Given the description of an element on the screen output the (x, y) to click on. 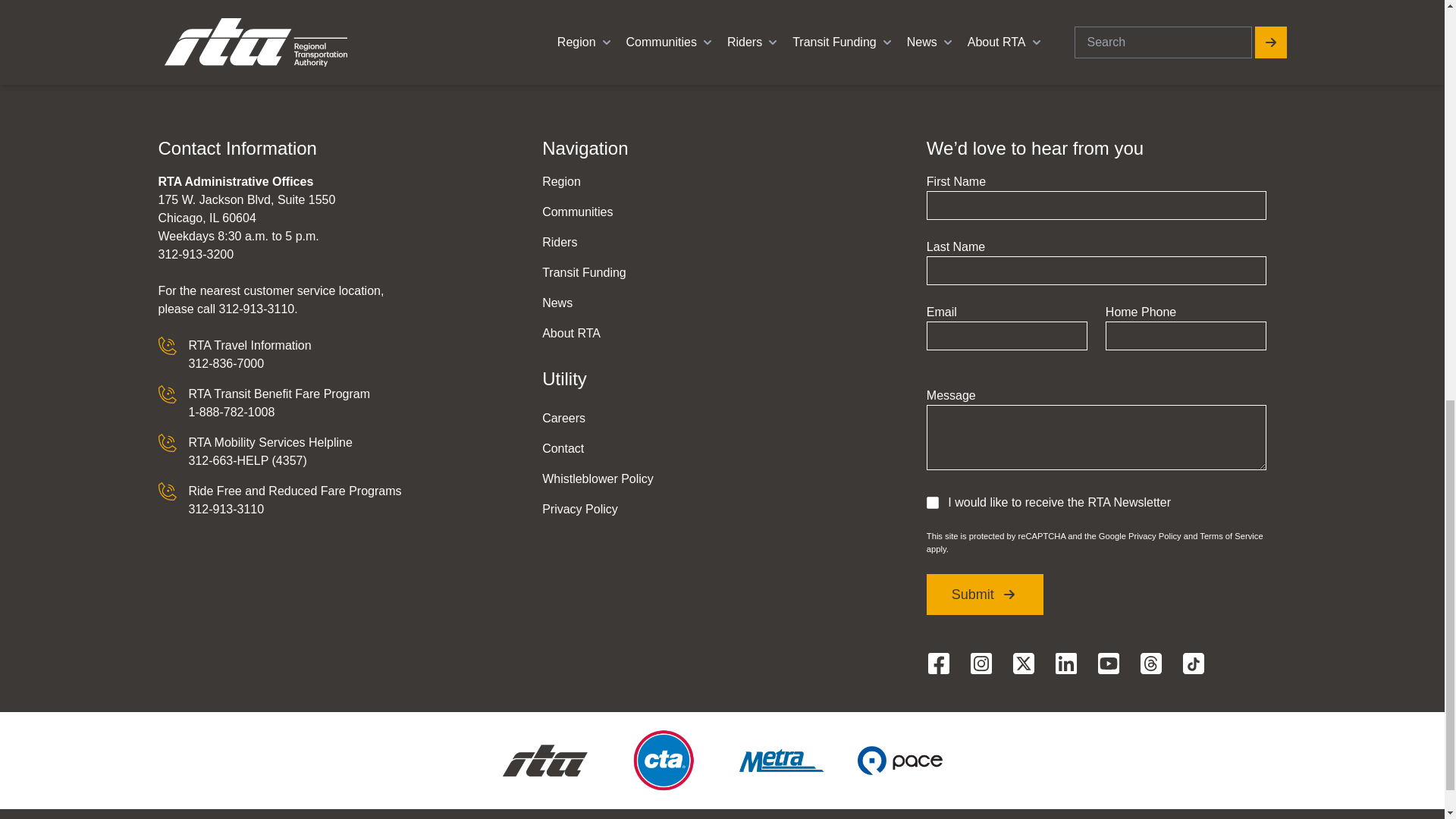
on (932, 502)
